Given the description of an element on the screen output the (x, y) to click on. 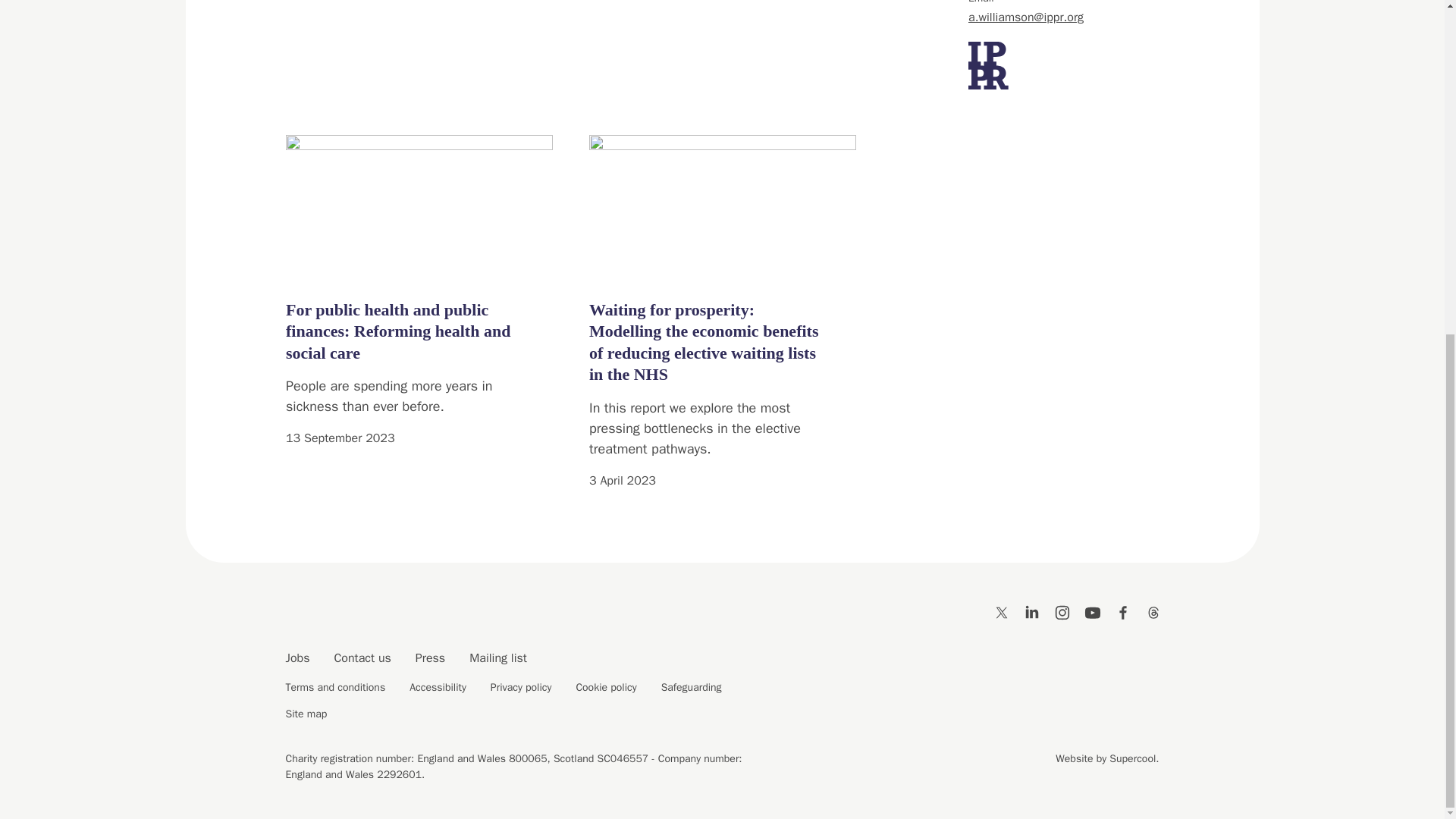
YouTube (1091, 611)
Terms and conditions (335, 687)
Supercool (1132, 758)
Threads (1152, 611)
Accessibility (437, 687)
Cookie policy (605, 687)
Safeguarding (691, 687)
Contact us (361, 658)
Facebook (1121, 611)
LinkedIn (1031, 611)
Privacy policy (520, 687)
Twitter (1000, 611)
Jobs (296, 658)
Instagram (1061, 611)
Mailing list (497, 658)
